Given the description of an element on the screen output the (x, y) to click on. 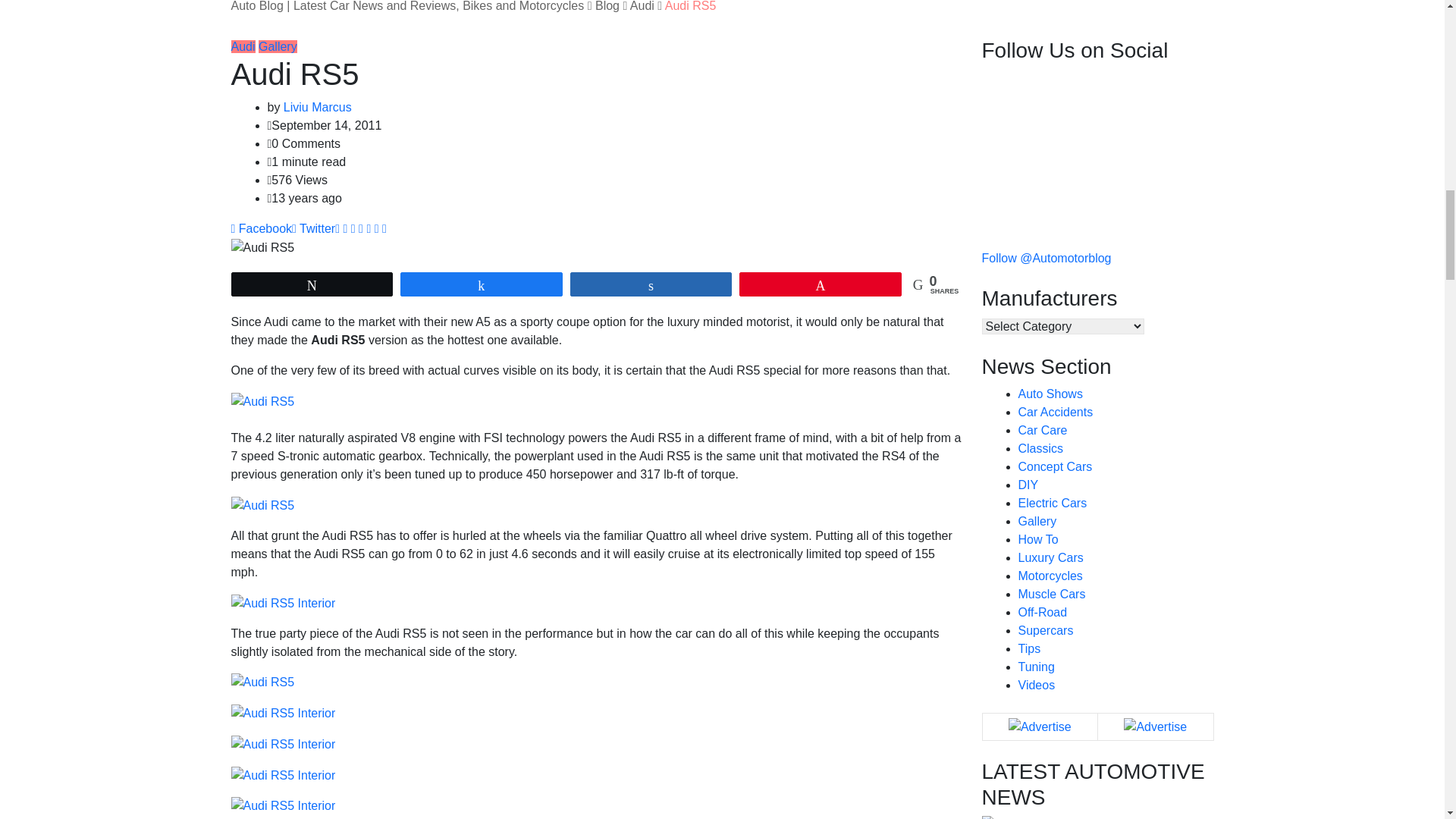
Go to Blog. (607, 6)
Posts by Liviu Marcus (317, 106)
Go to the Audi Category archives. (641, 6)
